Given the description of an element on the screen output the (x, y) to click on. 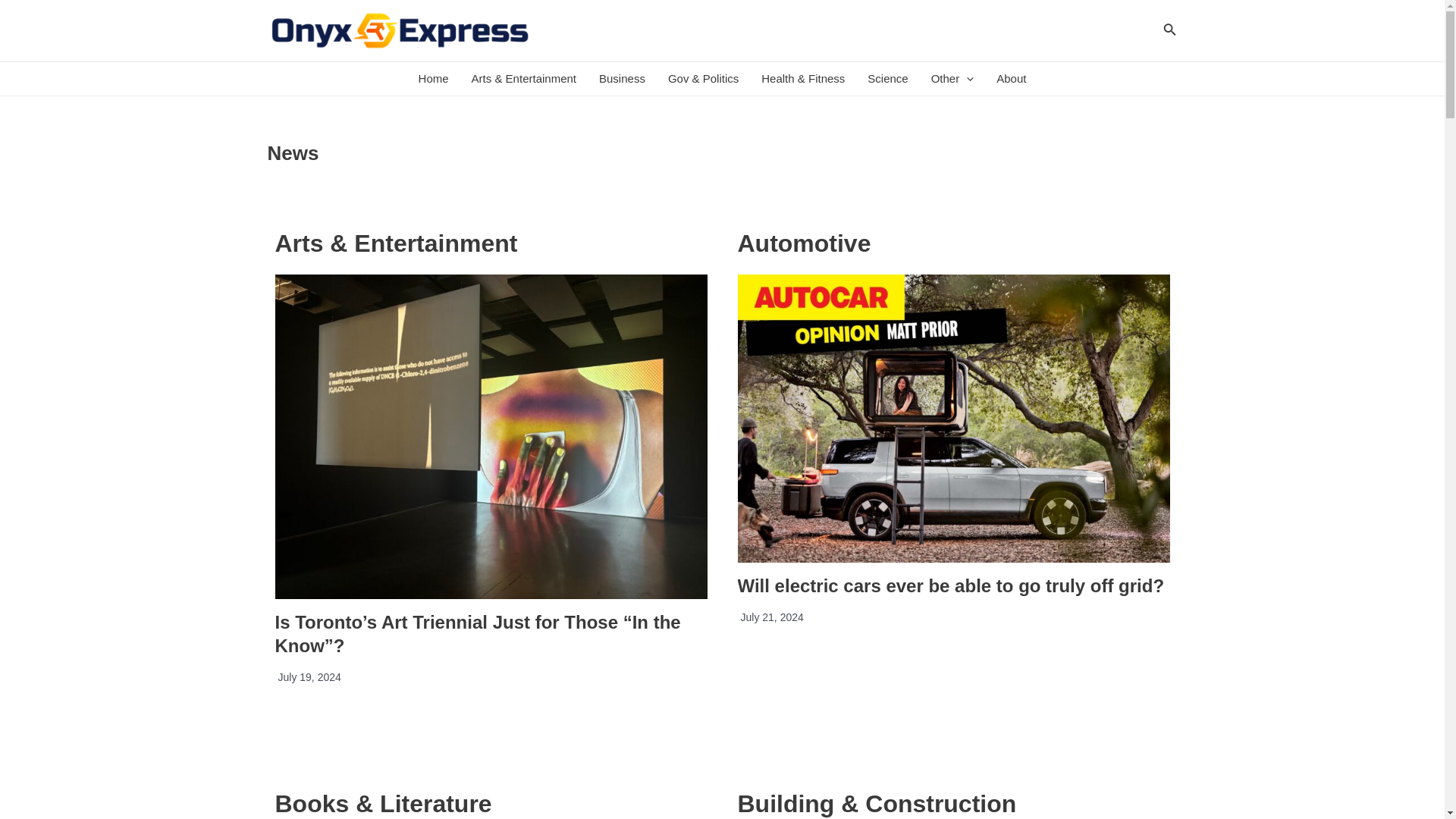
Other (952, 78)
About (1010, 78)
Science (887, 78)
Home (433, 78)
Business (622, 78)
